Given the description of an element on the screen output the (x, y) to click on. 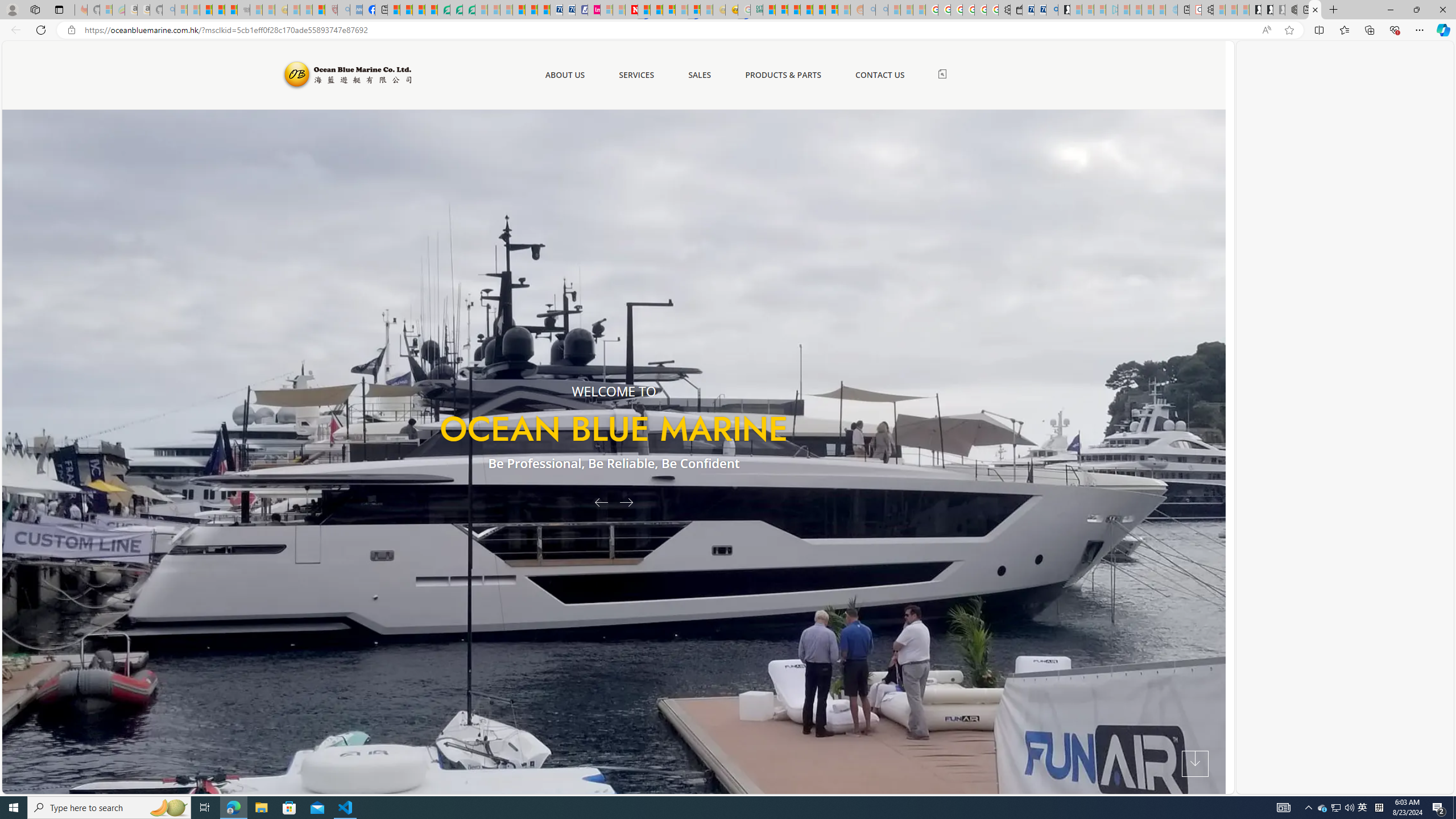
ABOUT US (564, 75)
PRODUCTS & PARTS (783, 75)
Kinda Frugal - MSN (818, 9)
CONTACT US (879, 74)
